Given the description of an element on the screen output the (x, y) to click on. 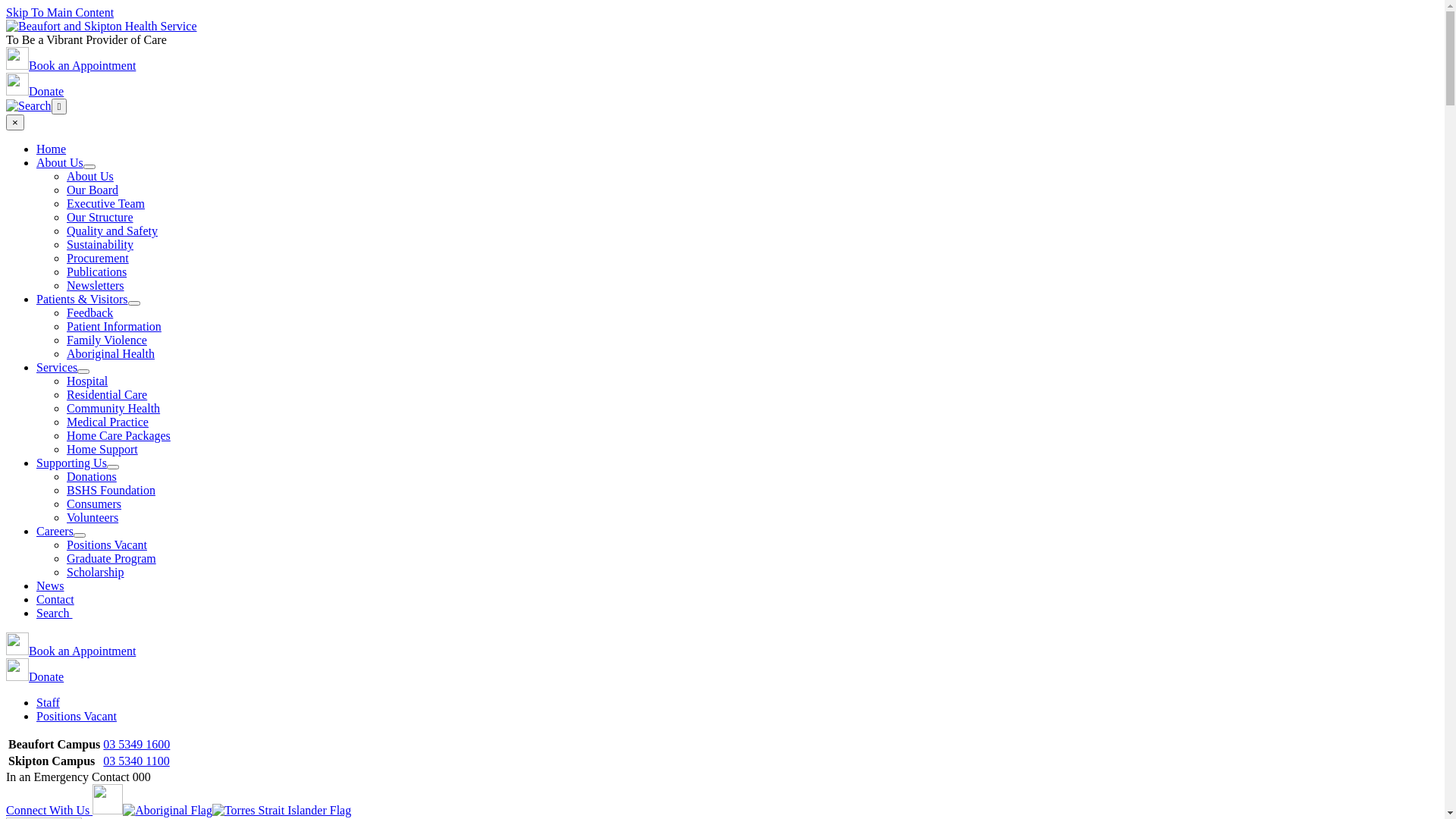
Contact Element type: text (55, 599)
Medical Practice Element type: text (107, 421)
News Element type: text (49, 585)
Home Care Packages Element type: text (118, 435)
Sustainability Element type: text (99, 244)
Connect With Us Element type: text (64, 809)
Show Sub Menu Element type: hover (83, 371)
Donations Element type: text (91, 476)
Supporting Us Element type: text (71, 462)
Show Sub Menu Element type: hover (112, 466)
Home Support Element type: text (102, 448)
Procurement Element type: text (97, 257)
Show Sub Menu Element type: hover (134, 303)
Go To Search Page Element type: hover (28, 105)
Donate Element type: text (34, 90)
Feedback Element type: text (89, 312)
Newsletters Element type: text (95, 285)
Residential Care Element type: text (106, 394)
Graduate Program Element type: text (111, 558)
Community Health Element type: text (113, 407)
About Us Element type: text (89, 175)
Quality and Safety Element type: text (111, 230)
Positions Vacant Element type: text (76, 715)
Book an Appointment Element type: text (70, 65)
Aboriginal Health Element type: text (110, 353)
Hospital Element type: text (86, 380)
Services Element type: text (56, 366)
03 5349 1600 Element type: text (136, 743)
Executive Team Element type: text (105, 203)
Family Violence Element type: text (106, 339)
Our Structure Element type: text (99, 216)
Show Sub Menu Element type: hover (89, 166)
About Us Element type: text (59, 162)
Our Board Element type: text (92, 189)
Careers Element type: text (54, 530)
BSHS Foundation Element type: text (110, 489)
Consumers Element type: text (93, 503)
Publications Element type: text (96, 271)
Donate Element type: text (34, 676)
Book an Appointment Element type: text (70, 650)
Volunteers Element type: text (92, 517)
Search Element type: text (54, 612)
Scholarship Element type: text (95, 571)
Patient Information Element type: text (113, 326)
Show Sub Menu Element type: hover (79, 535)
Staff Element type: text (47, 702)
Home Element type: text (50, 148)
Positions Vacant Element type: text (106, 544)
03 5340 1100 Element type: text (136, 760)
Patients & Visitors Element type: text (82, 298)
Skip To Main Content Element type: text (59, 12)
